Given the description of an element on the screen output the (x, y) to click on. 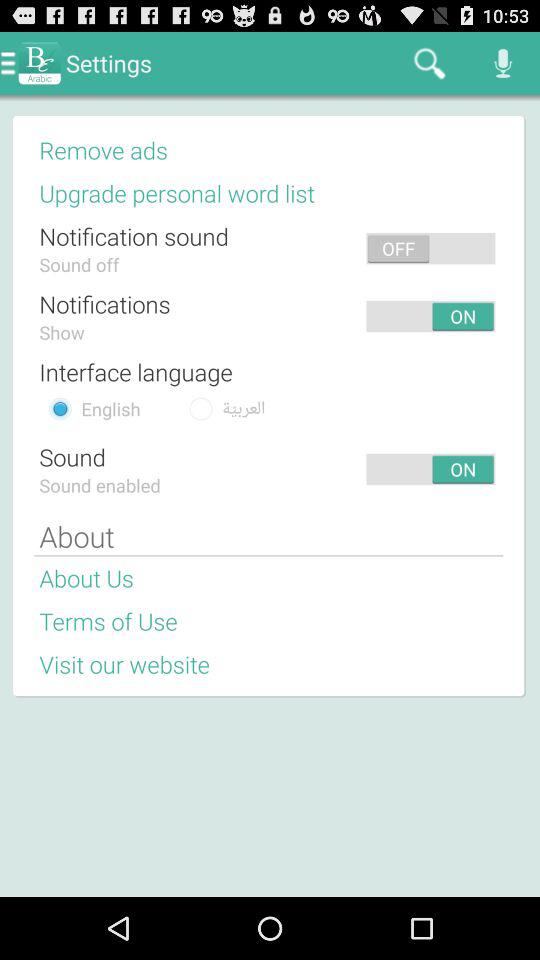
open interface language (135, 371)
